Given the description of an element on the screen output the (x, y) to click on. 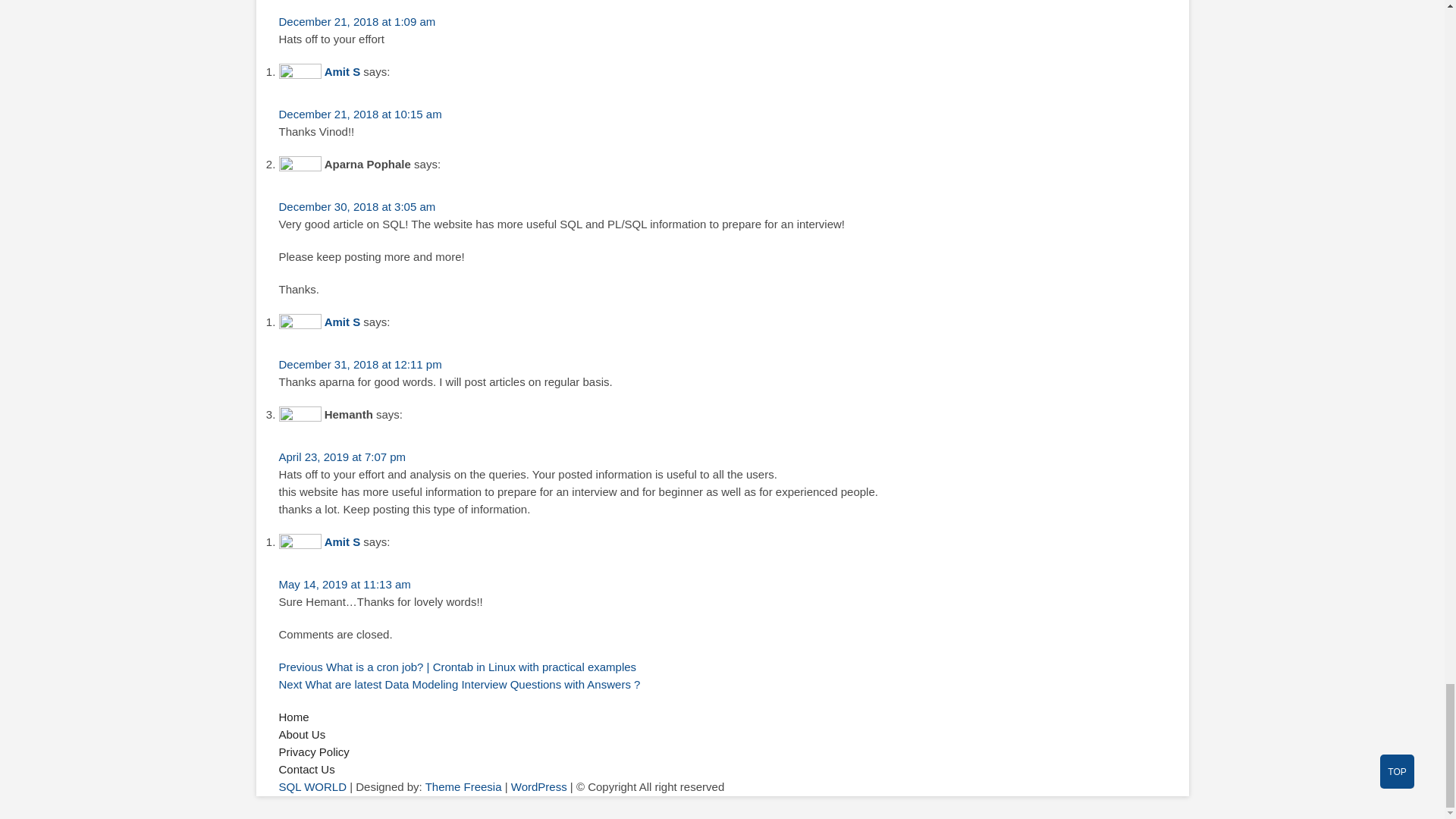
Theme Freesia (463, 786)
December 21, 2018 at 1:09 am (357, 21)
SQL WORLD (312, 786)
December 21, 2018 at 10:15 am (360, 113)
December 31, 2018 at 12:11 pm (360, 364)
Amit S (342, 321)
April 23, 2019 at 7:07 pm (342, 456)
December 30, 2018 at 3:05 am (357, 205)
WordPress (539, 786)
Amit S (342, 71)
